Given the description of an element on the screen output the (x, y) to click on. 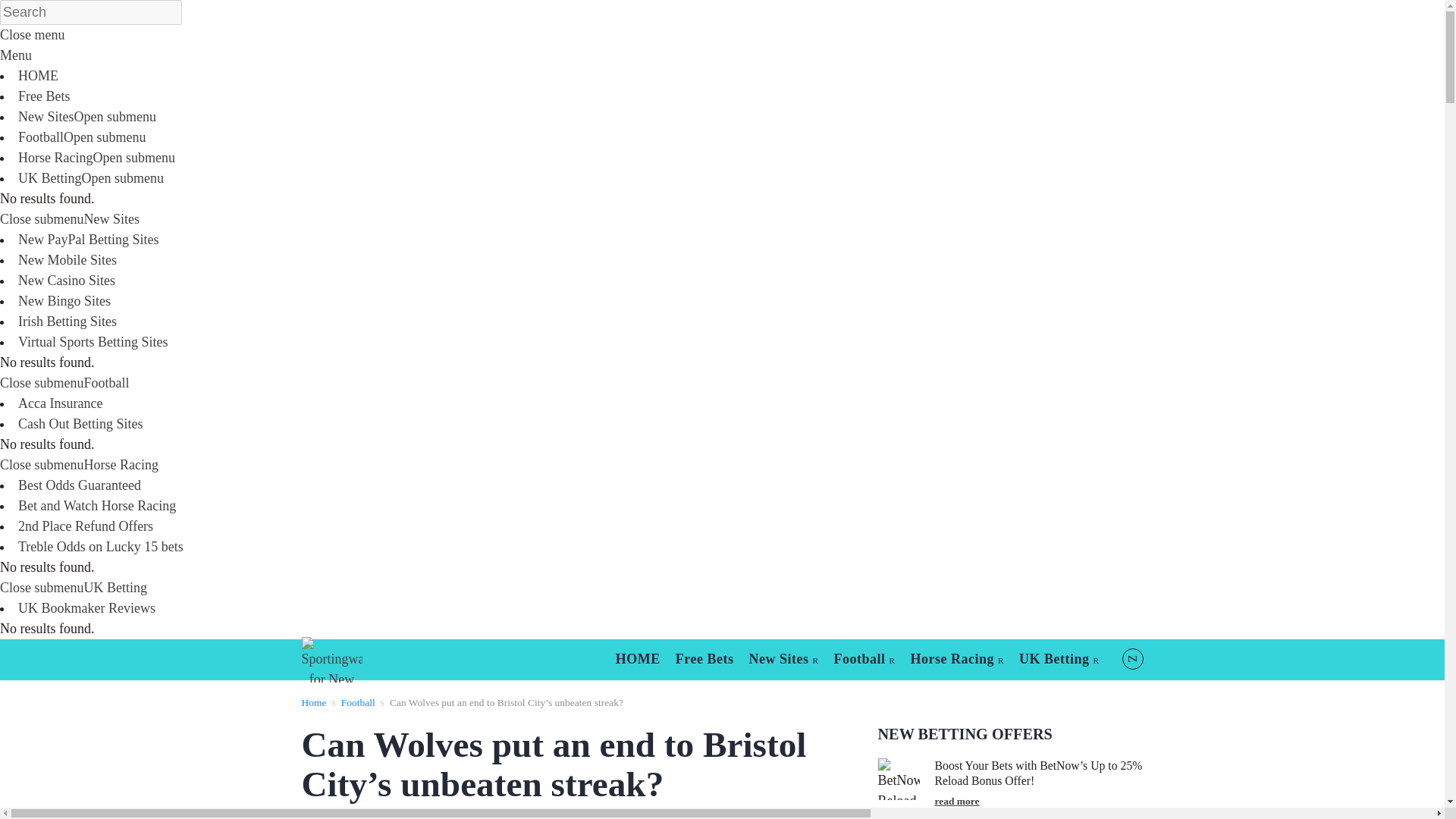
Cash Out Betting Sites (79, 423)
Open submenu (114, 116)
Irish Betting Sites (66, 321)
Best Irish Betting Sites (66, 321)
New Casino Sites (66, 280)
New Sites (110, 218)
HOME (638, 658)
Horse Racing (119, 464)
Football Betting Sites and Free Bets (40, 136)
New Sites (783, 659)
